Given the description of an element on the screen output the (x, y) to click on. 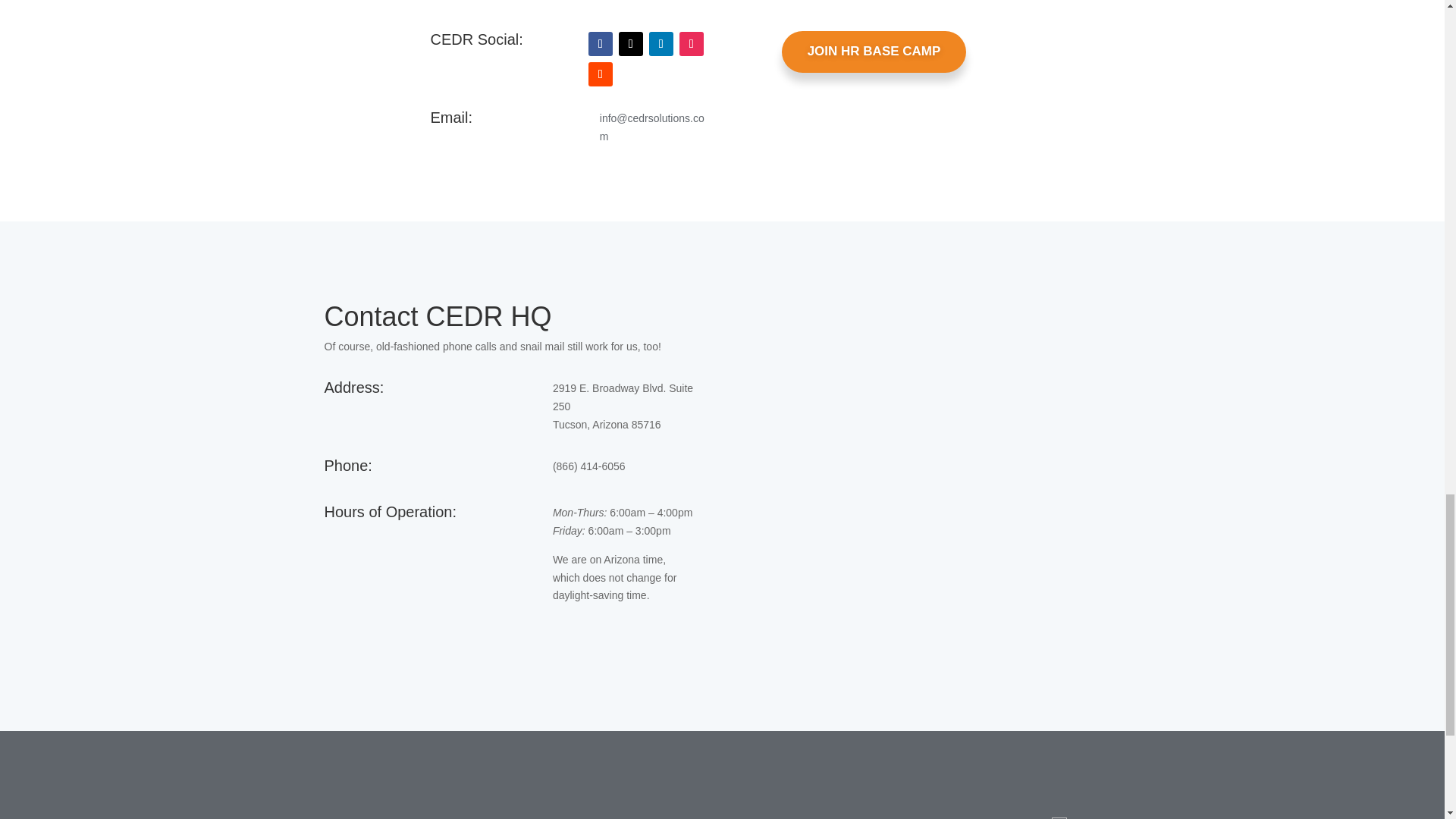
Follow on Reddit (600, 74)
Follow on LinkedIn (660, 43)
Follow on X (630, 43)
Follow on Facebook (600, 43)
top-work-places-2024 (1059, 818)
Follow on Instagram (691, 43)
